Given the description of an element on the screen output the (x, y) to click on. 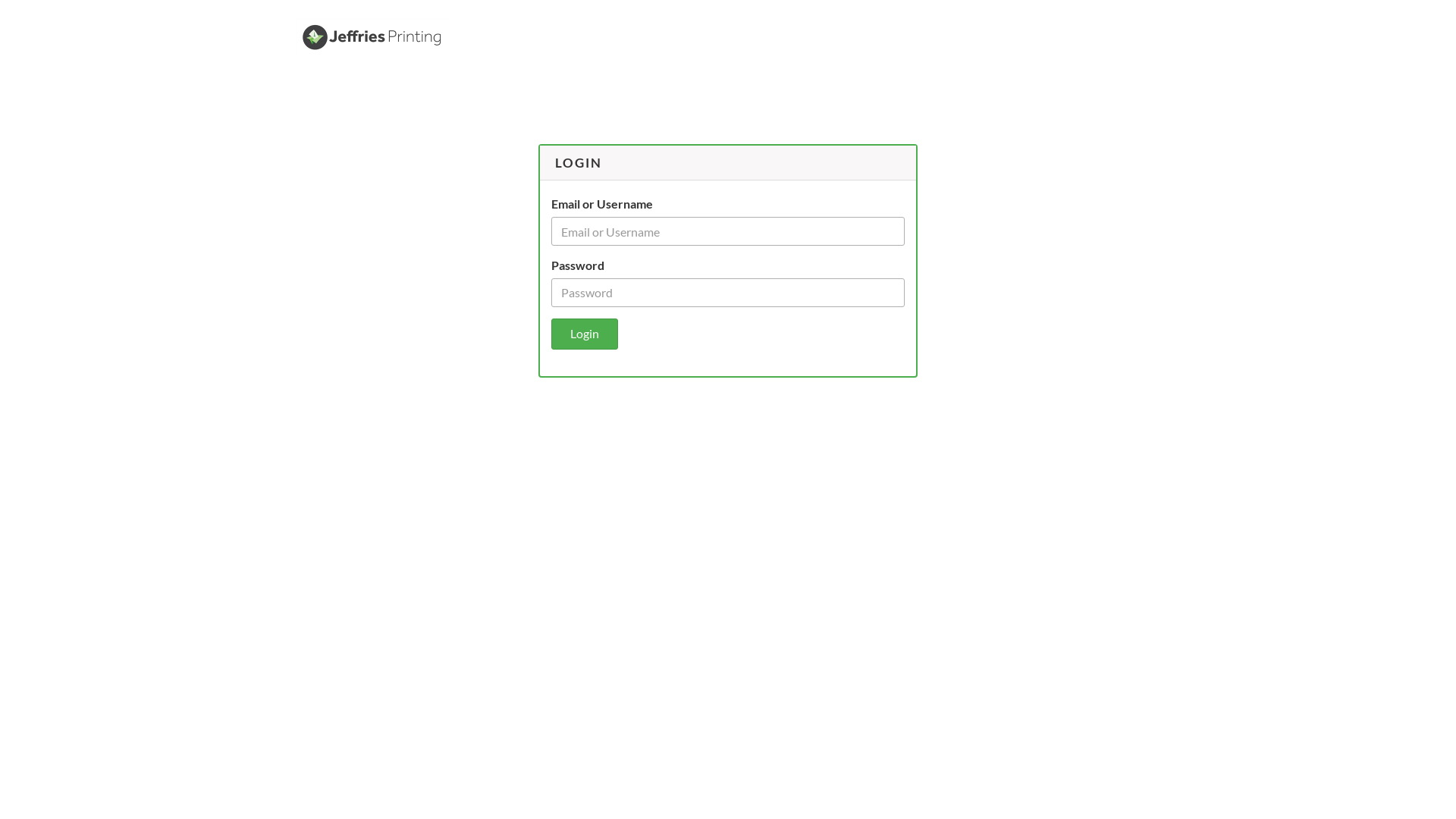
Jeffries Printing Element type: hover (371, 37)
Login Element type: text (584, 333)
